Given the description of an element on the screen output the (x, y) to click on. 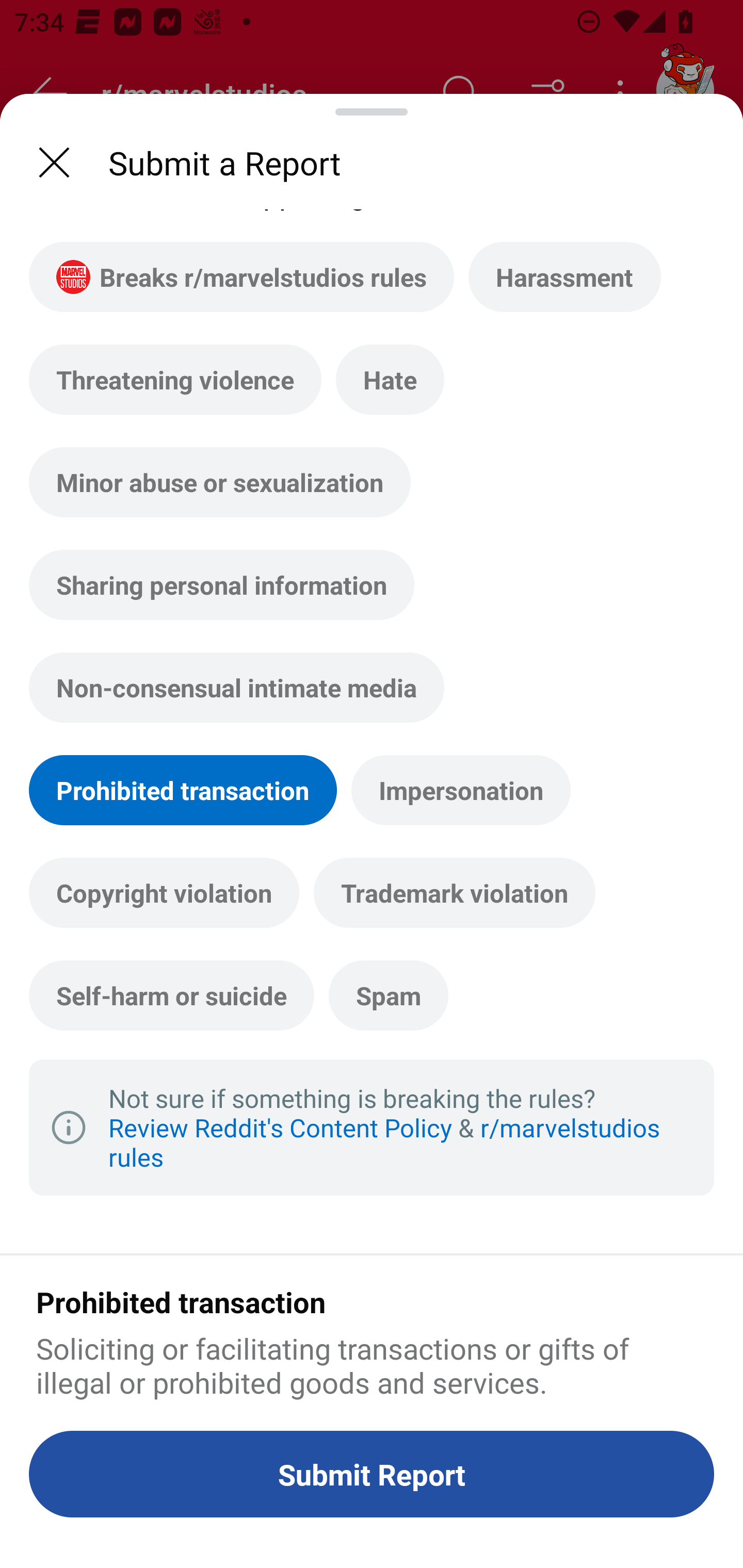
Close (53, 162)
Harassment (564, 276)
Threatening violence (174, 378)
Hate (389, 378)
Minor abuse or sexualization (219, 481)
Sharing personal information (221, 584)
Non-consensual intimate media (236, 687)
Prohibited transaction (182, 789)
Impersonation (460, 789)
Copyright violation (163, 892)
Trademark violation (454, 892)
Self-harm or suicide (171, 994)
Spam (388, 994)
Submit Report (371, 1473)
